Given the description of an element on the screen output the (x, y) to click on. 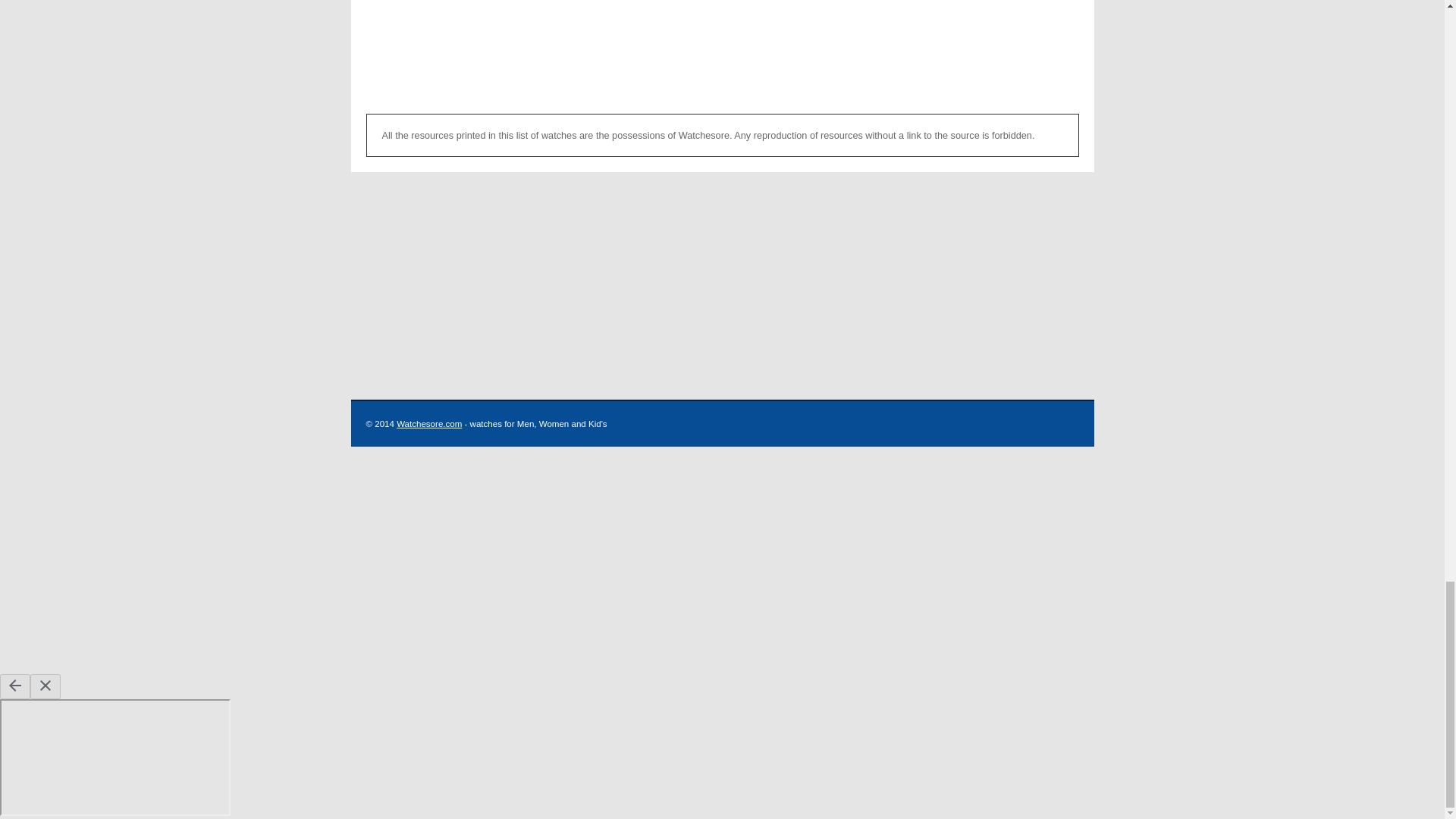
Advertisement (721, 49)
Watchesore.com (428, 423)
